Given the description of an element on the screen output the (x, y) to click on. 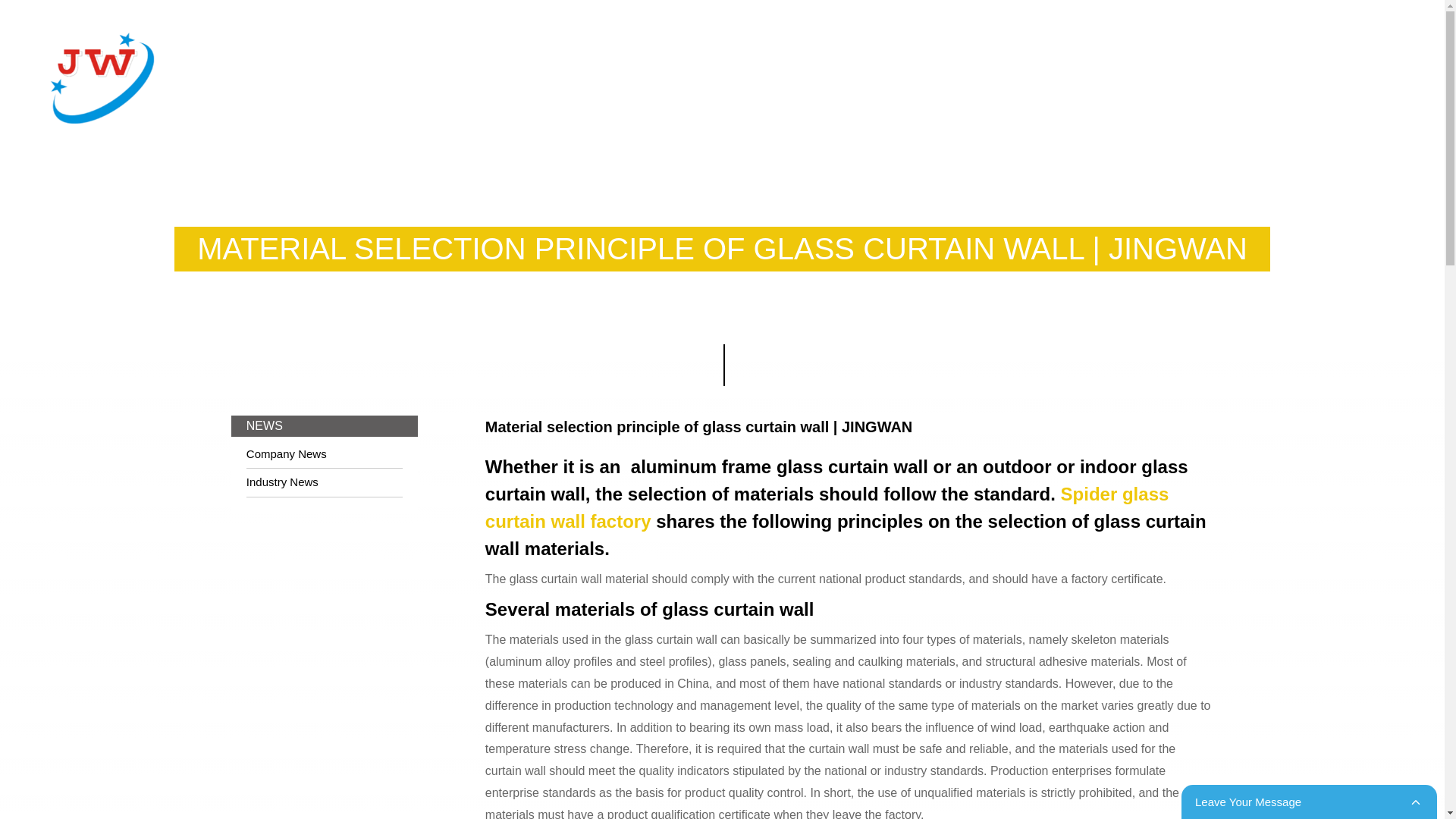
Company News (324, 454)
About Us (978, 61)
aluminum frame glass curtain wall (779, 466)
Industry News (324, 482)
Projects (717, 61)
Contact Us (1081, 61)
Products (391, 61)
Spider glass curtain wall factory (826, 507)
Home (304, 61)
Technical Capability (523, 61)
